Given the description of an element on the screen output the (x, y) to click on. 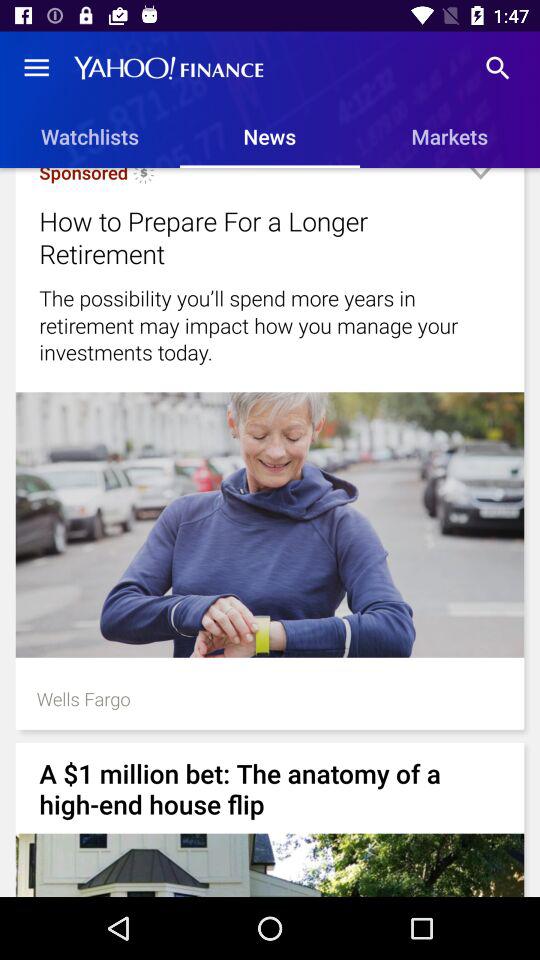
flip until the how to prepare icon (244, 237)
